Given the description of an element on the screen output the (x, y) to click on. 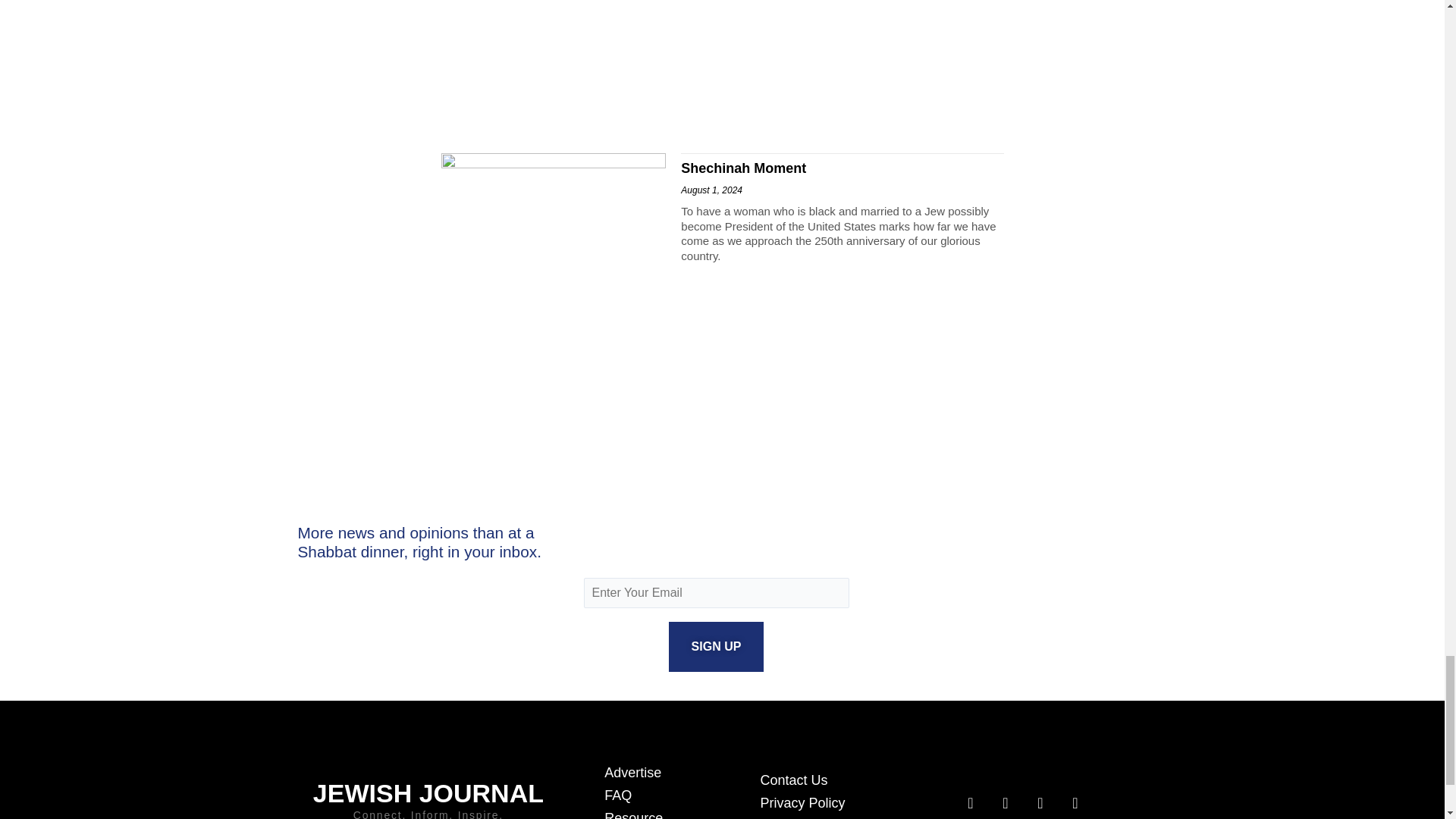
Sign Up (715, 646)
